Given the description of an element on the screen output the (x, y) to click on. 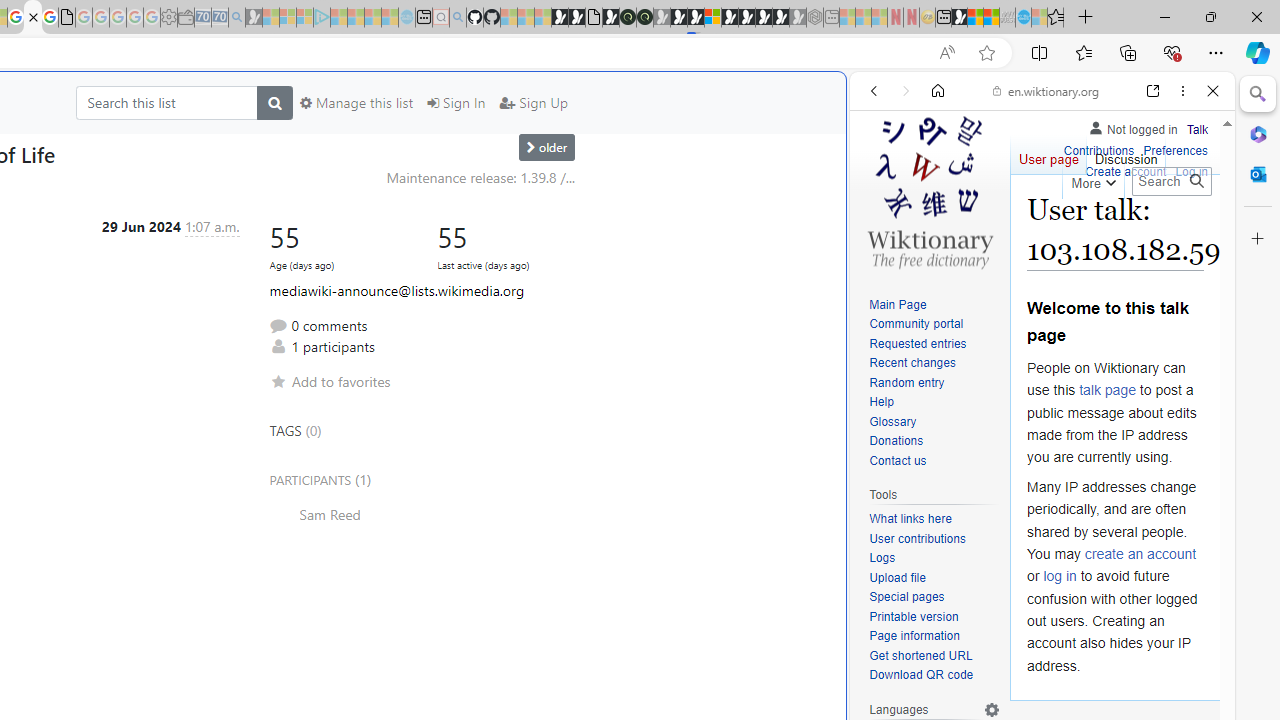
Upload file (934, 578)
mediawiki-announce@lists.wikimedia.org (396, 290)
Log in (1191, 169)
Frequently visited (418, 265)
Upload file (897, 577)
Tabs you've opened (276, 265)
Wiktionary (1034, 669)
What links here (934, 519)
What links here (910, 519)
Community portal (916, 323)
